Given the description of an element on the screen output the (x, y) to click on. 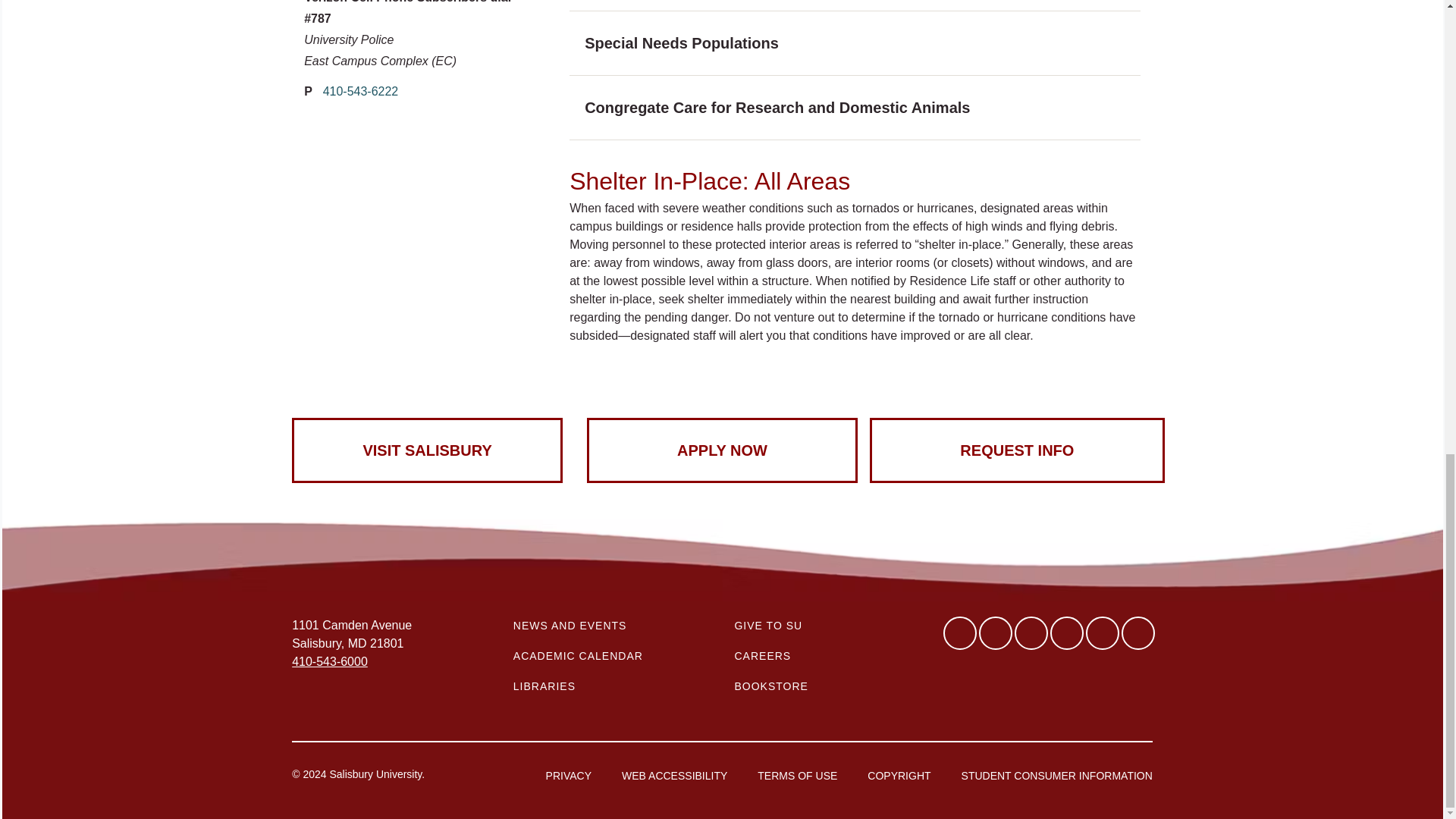
Like Salisbury University on Facebook (959, 633)
Visit Salisbury University's YouTube Channel (1102, 633)
Follow Us on Twitter (994, 633)
Connect With Salisbury University on LinkedIn (1031, 633)
Visit Salisbury University on Flickr (1066, 633)
Follow Salisbury University on instagram (1137, 633)
